Given the description of an element on the screen output the (x, y) to click on. 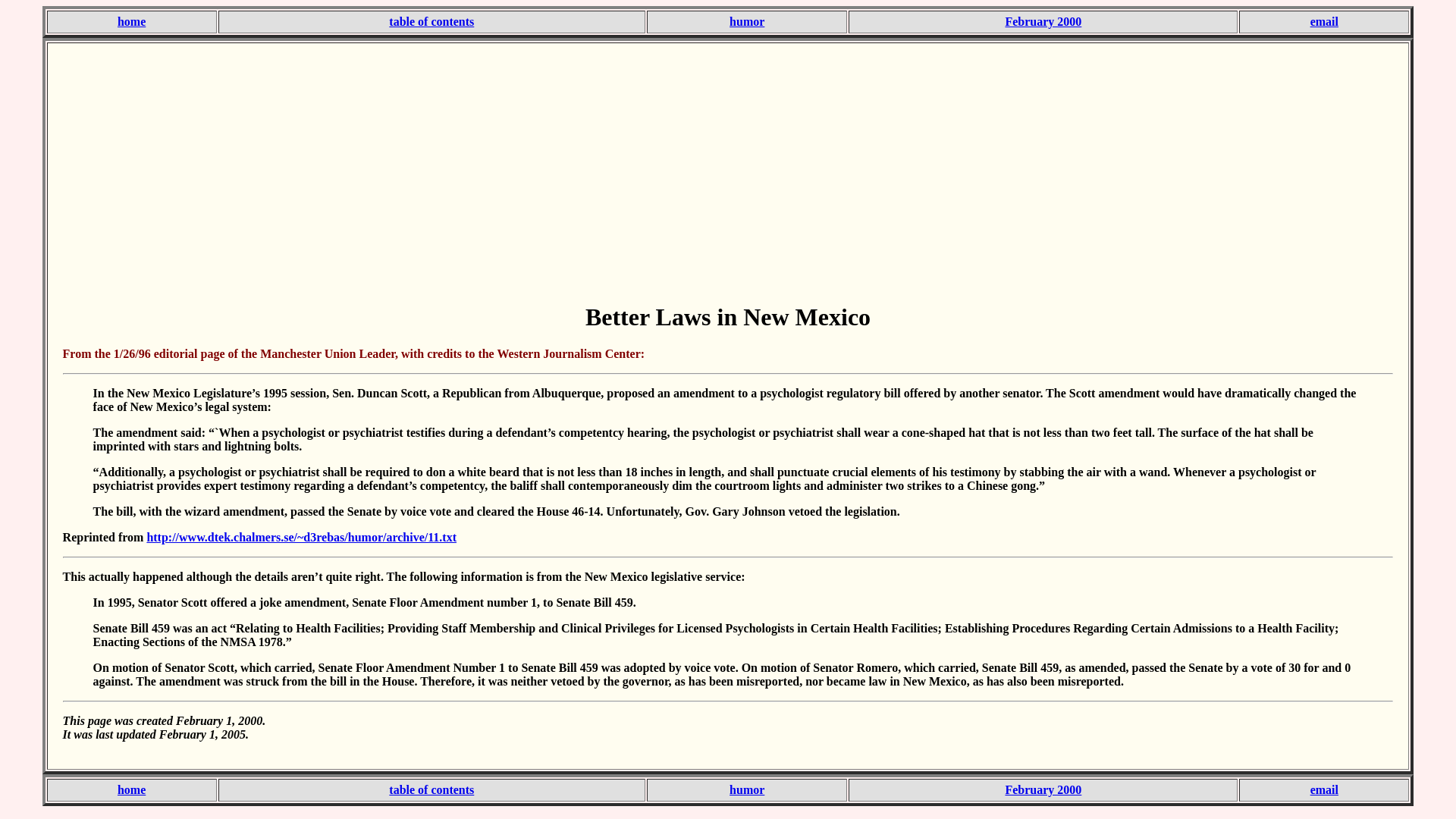
February 2000 (1042, 21)
email (1324, 789)
table of contents (431, 21)
February 2000 (1042, 789)
table of contents (431, 789)
humor (746, 789)
home (131, 789)
home (131, 21)
email (1324, 21)
